Given the description of an element on the screen output the (x, y) to click on. 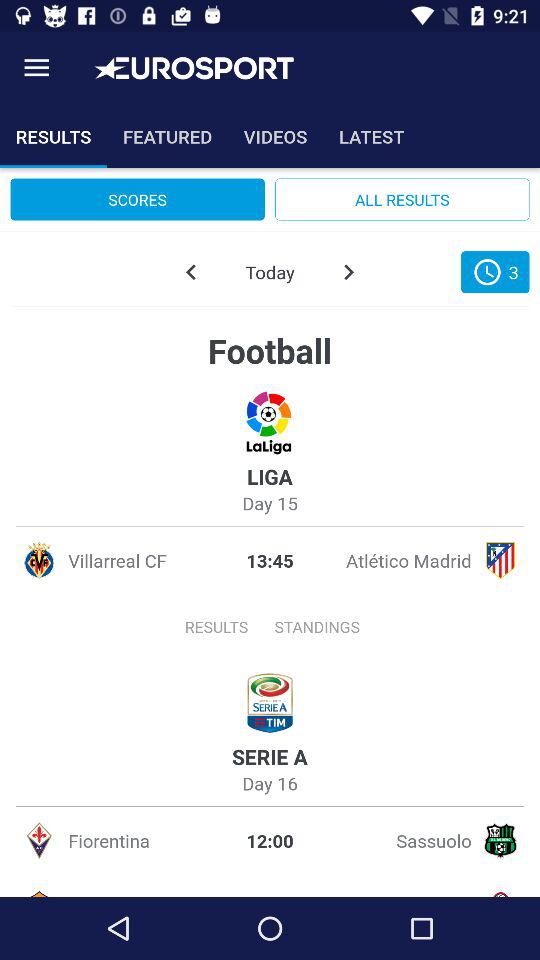
next day (348, 272)
